Given the description of an element on the screen output the (x, y) to click on. 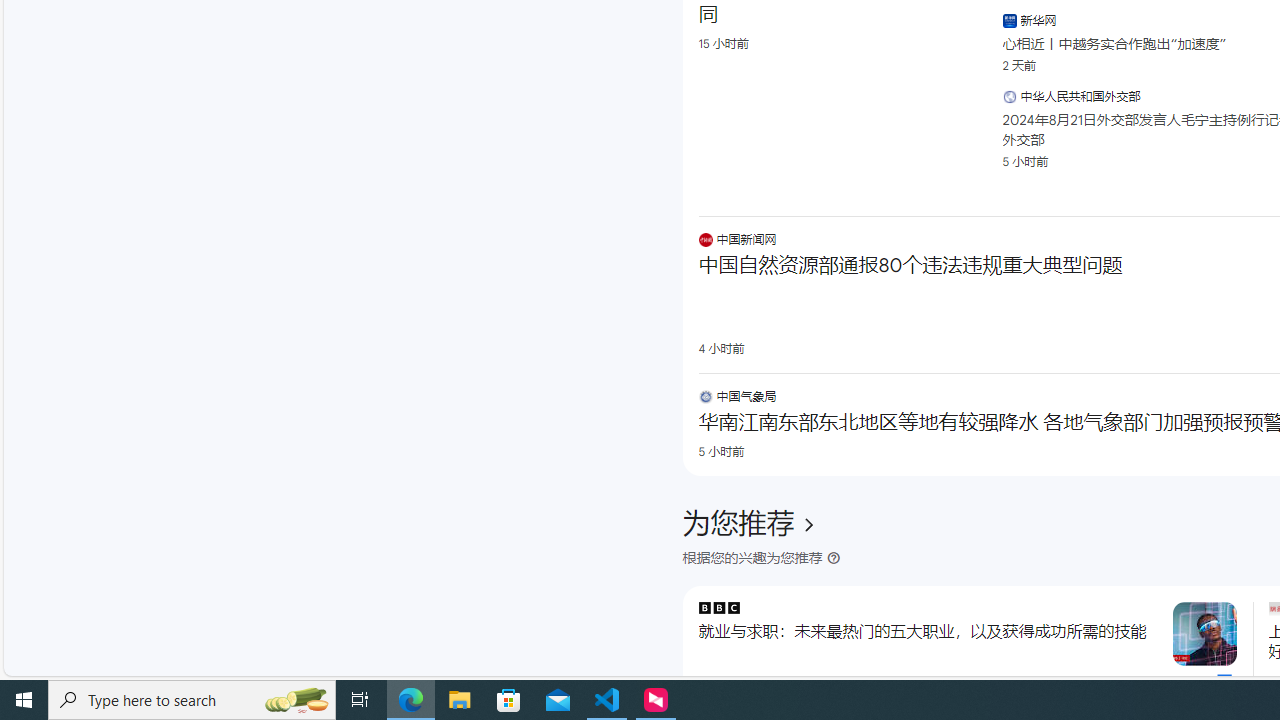
Class: YMQYob NMm5M hhikbc (808, 524)
